Given the description of an element on the screen output the (x, y) to click on. 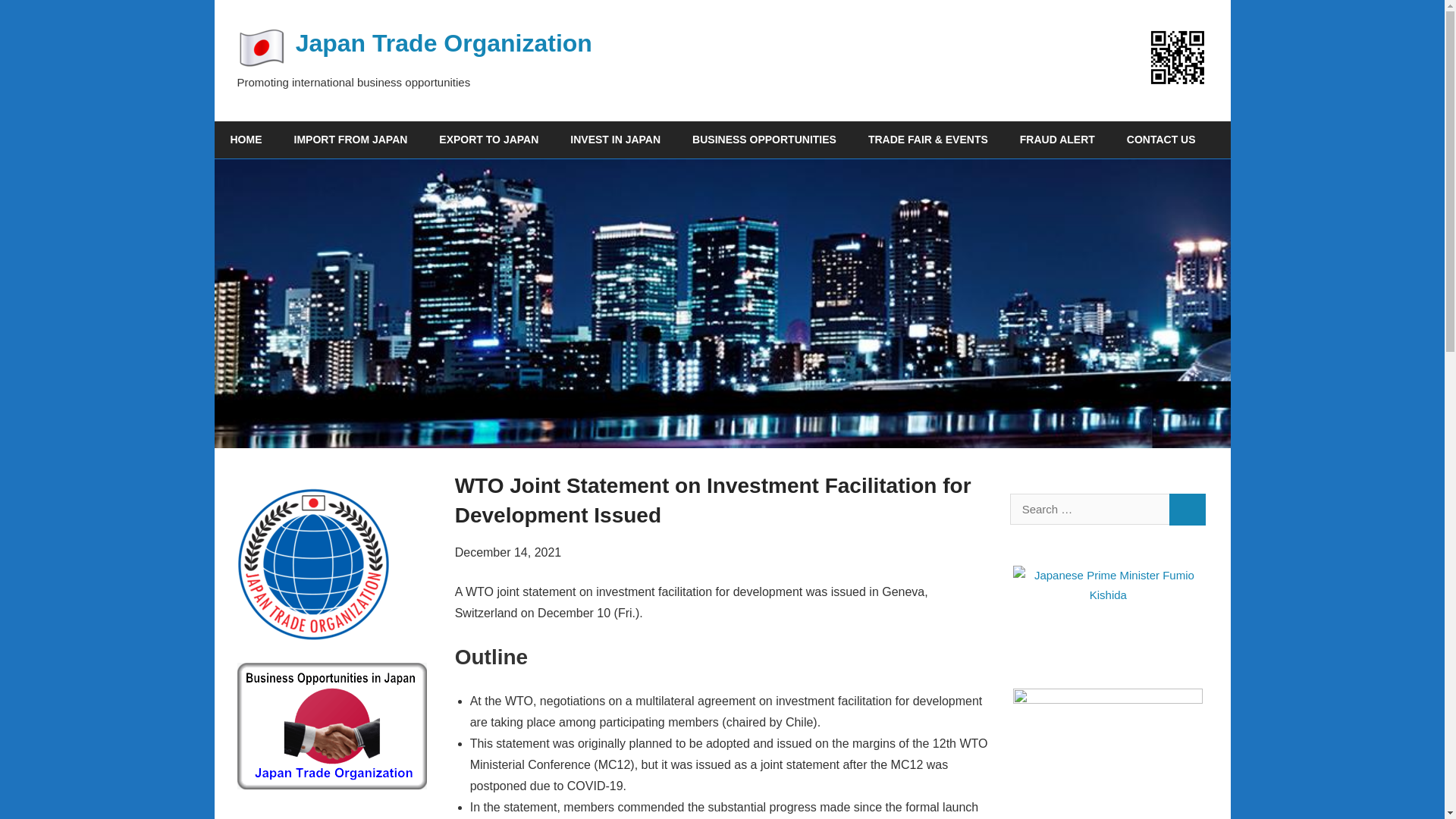
CONTACT US (1160, 139)
Japan Trade Organization Registered Trade Mark (311, 563)
EXPORT TO JAPAN (488, 139)
BUSINESS OPPORTUNITIES (764, 139)
Japan Trade Organization (443, 42)
IMPORT FROM JAPAN (350, 139)
FRAUD ALERT (1057, 139)
Search for: (1089, 508)
HOME (246, 139)
INVEST IN JAPAN (615, 139)
